Given the description of an element on the screen output the (x, y) to click on. 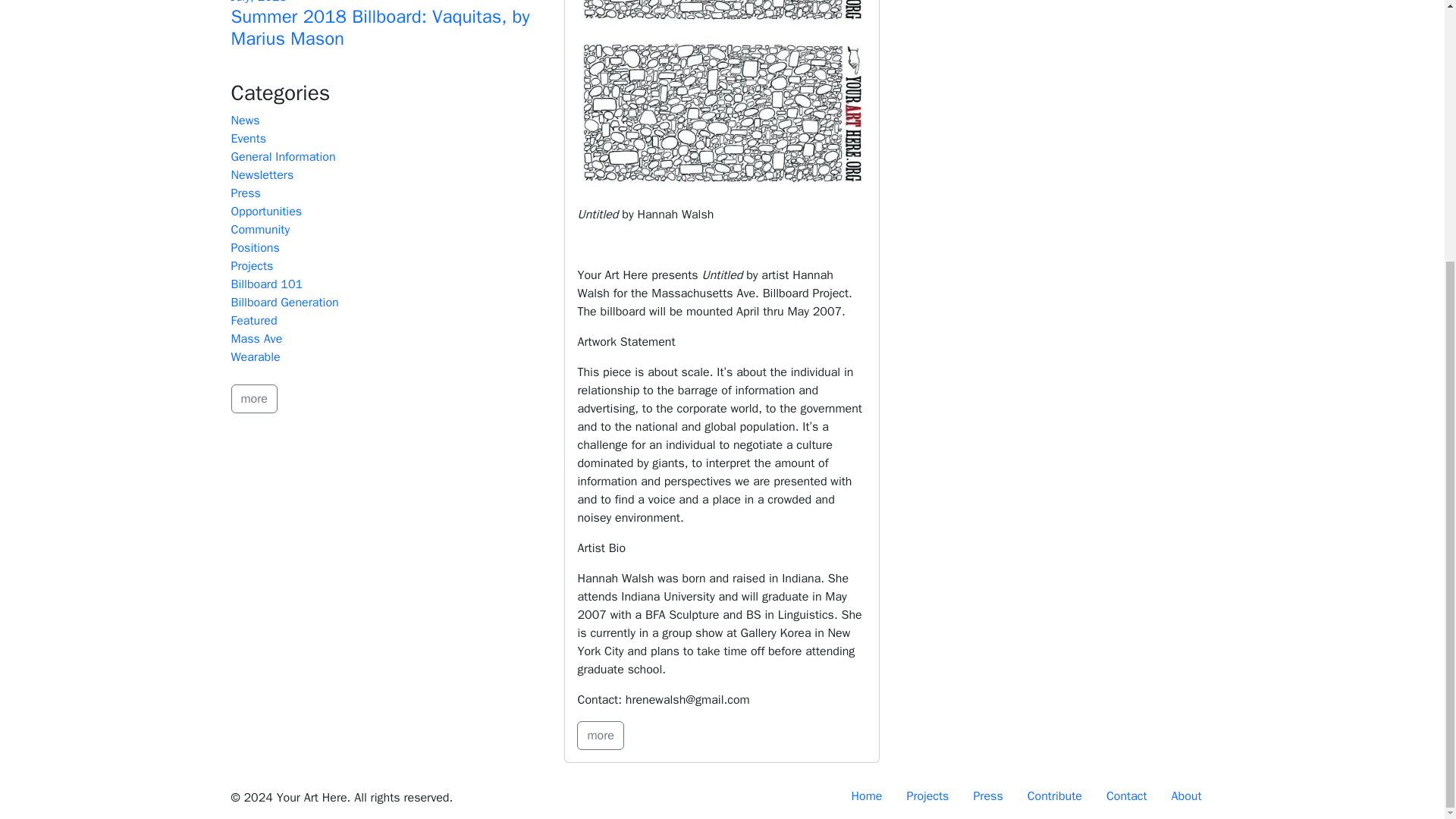
Projects (251, 265)
News (244, 120)
Mass Ave (256, 338)
General Information (282, 156)
more (599, 735)
Press (245, 192)
Opportunities (265, 211)
Billboard 101 (266, 283)
Wearable (254, 356)
Events (248, 138)
